Given the description of an element on the screen output the (x, y) to click on. 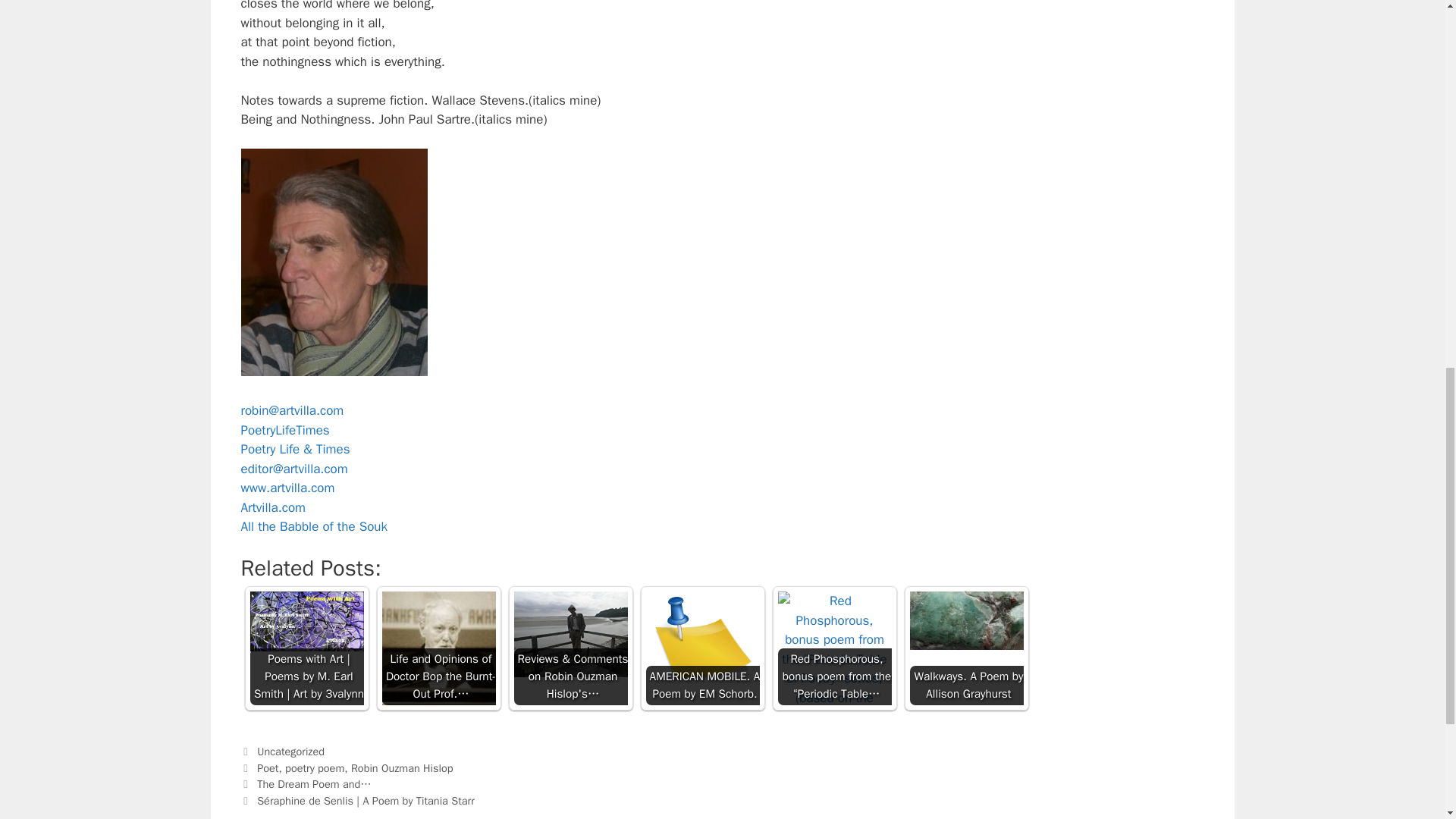
Walkways. A Poem by Allison Grayhurst (966, 620)
AMERICAN MOBILE. A Poem by EM Schorb. (703, 648)
